Given the description of an element on the screen output the (x, y) to click on. 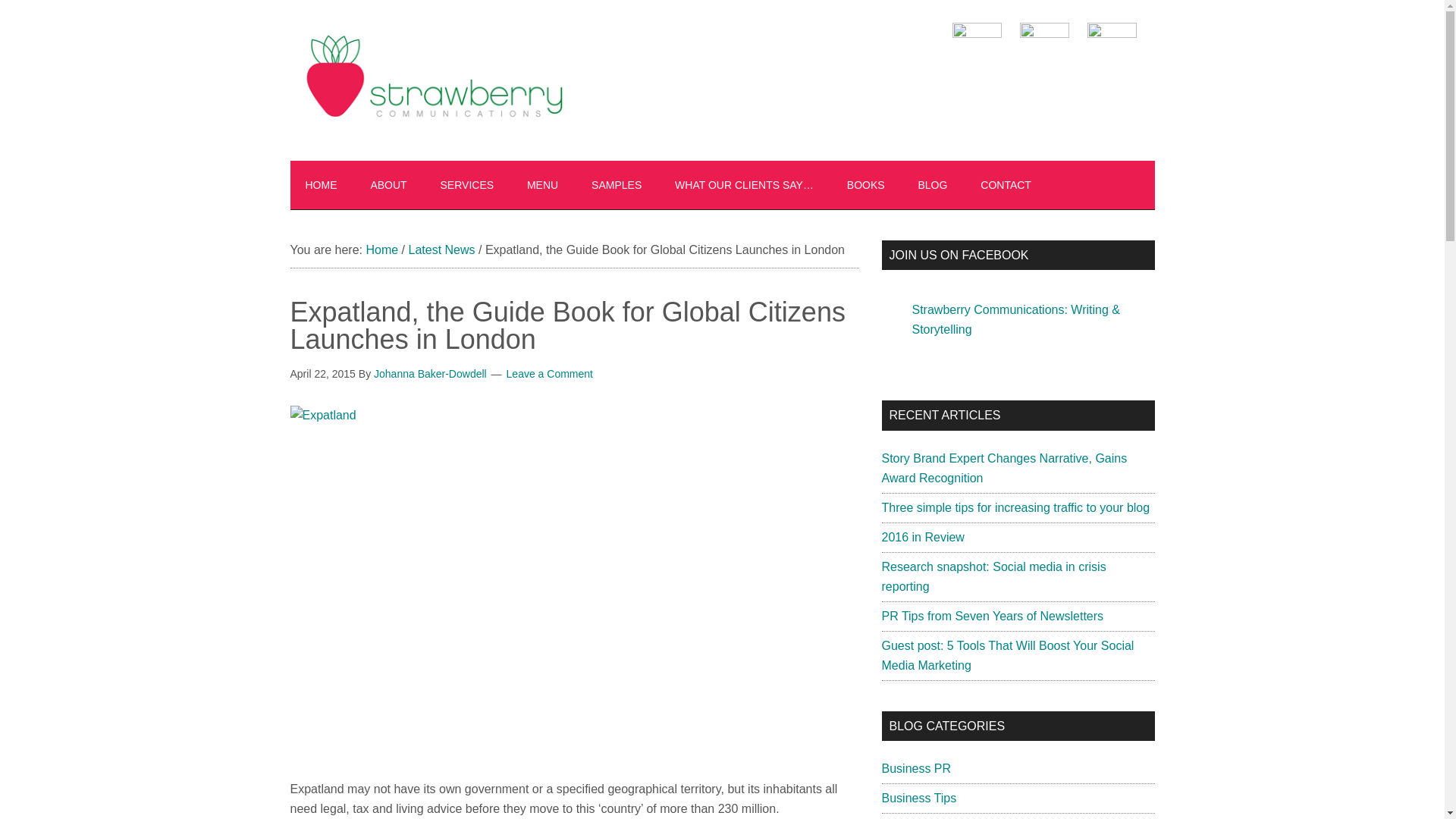
BOOKS (865, 184)
2016 in Review (921, 536)
twitter (1043, 49)
Leave a Comment (549, 373)
facebook (976, 49)
MENU (542, 184)
HOME (320, 184)
ABOUT (388, 184)
Latest News (440, 249)
SAMPLES (616, 184)
SERVICES (467, 184)
Home (381, 249)
CONTACT (1005, 184)
